Given the description of an element on the screen output the (x, y) to click on. 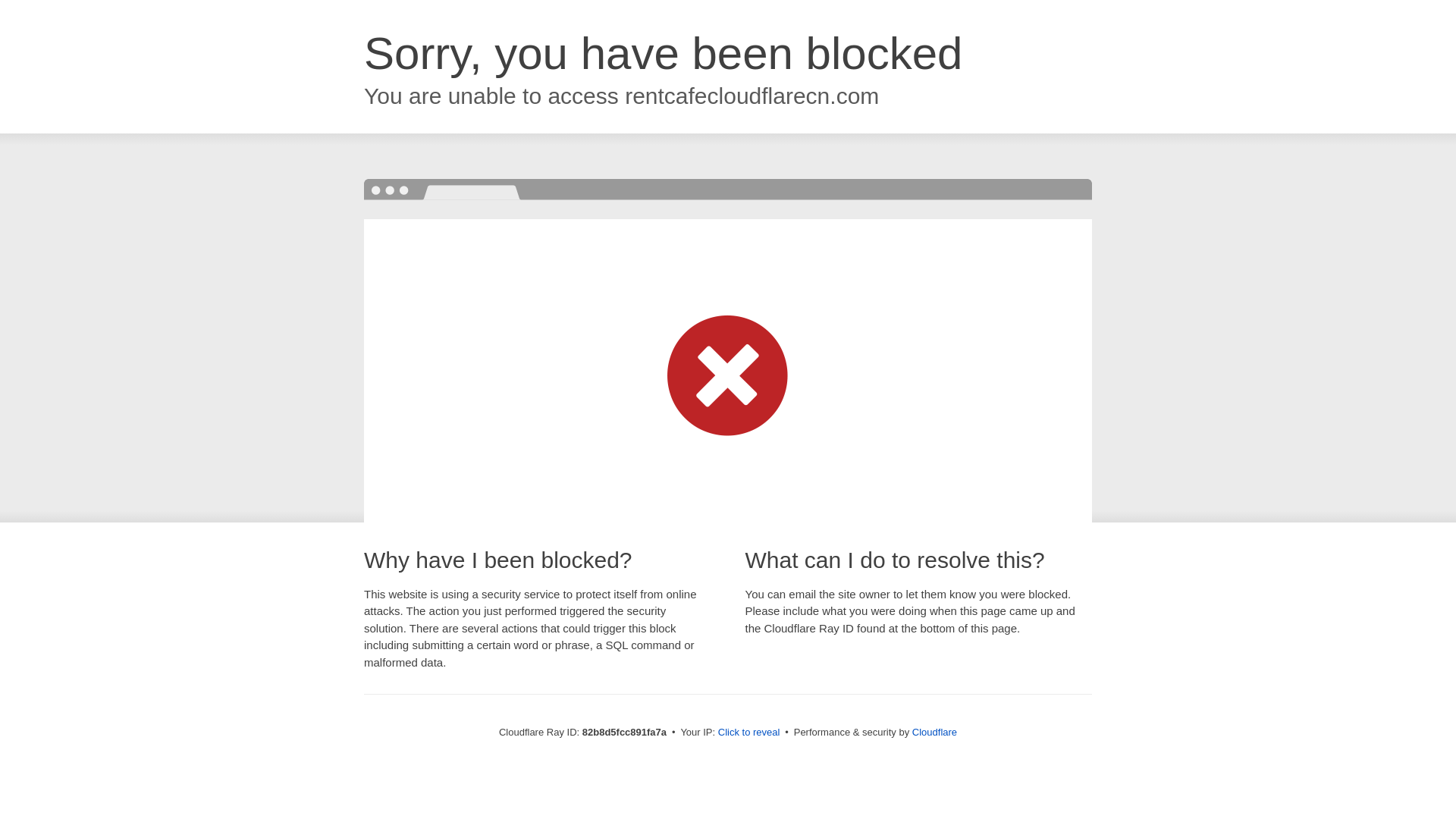
Click to reveal Element type: text (749, 732)
Cloudflare Element type: text (934, 731)
